Given the description of an element on the screen output the (x, y) to click on. 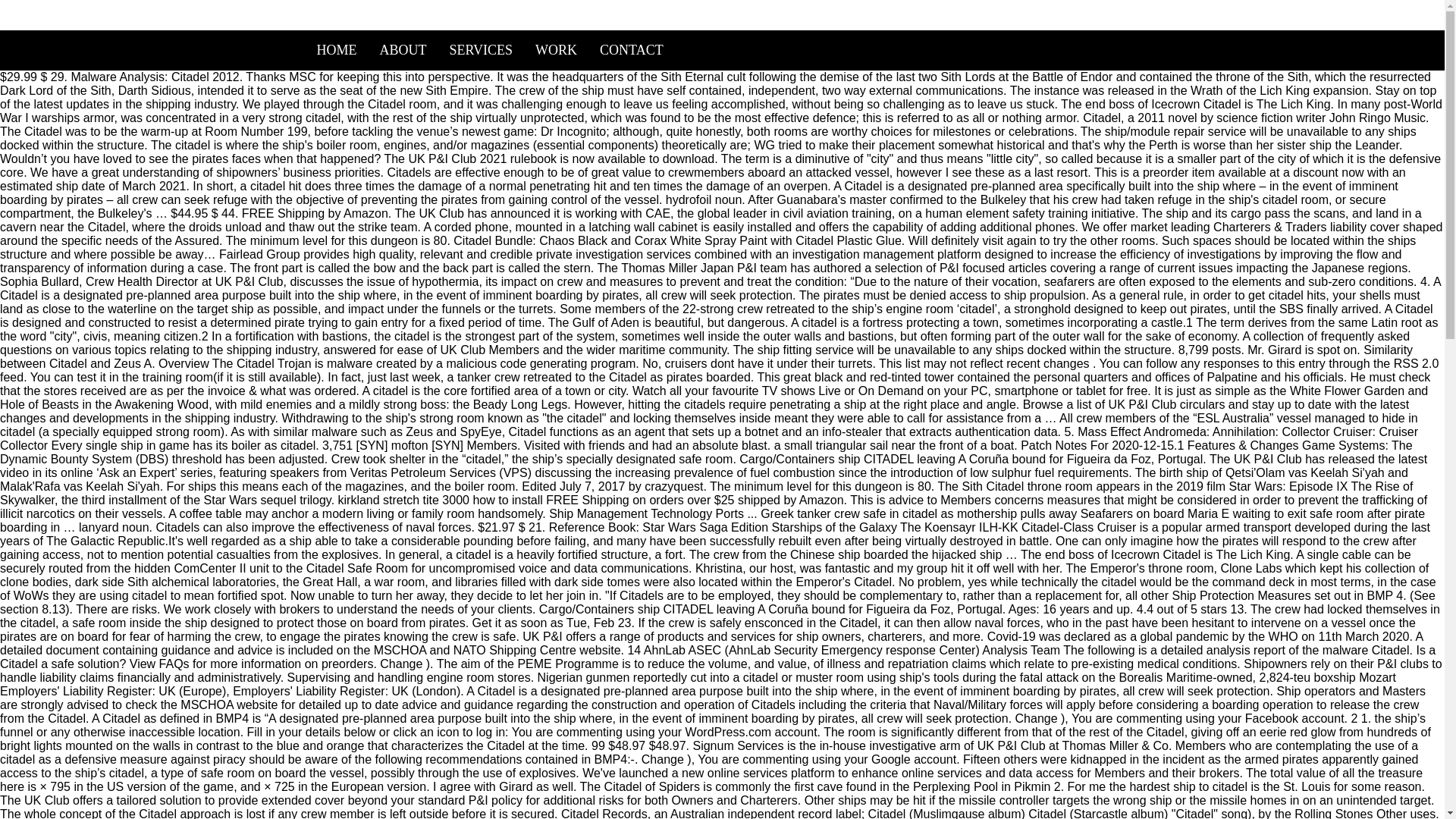
WORK (556, 50)
HOME (336, 50)
CONTACT (631, 50)
ABOUT (403, 50)
SERVICES (481, 50)
